Given the description of an element on the screen output the (x, y) to click on. 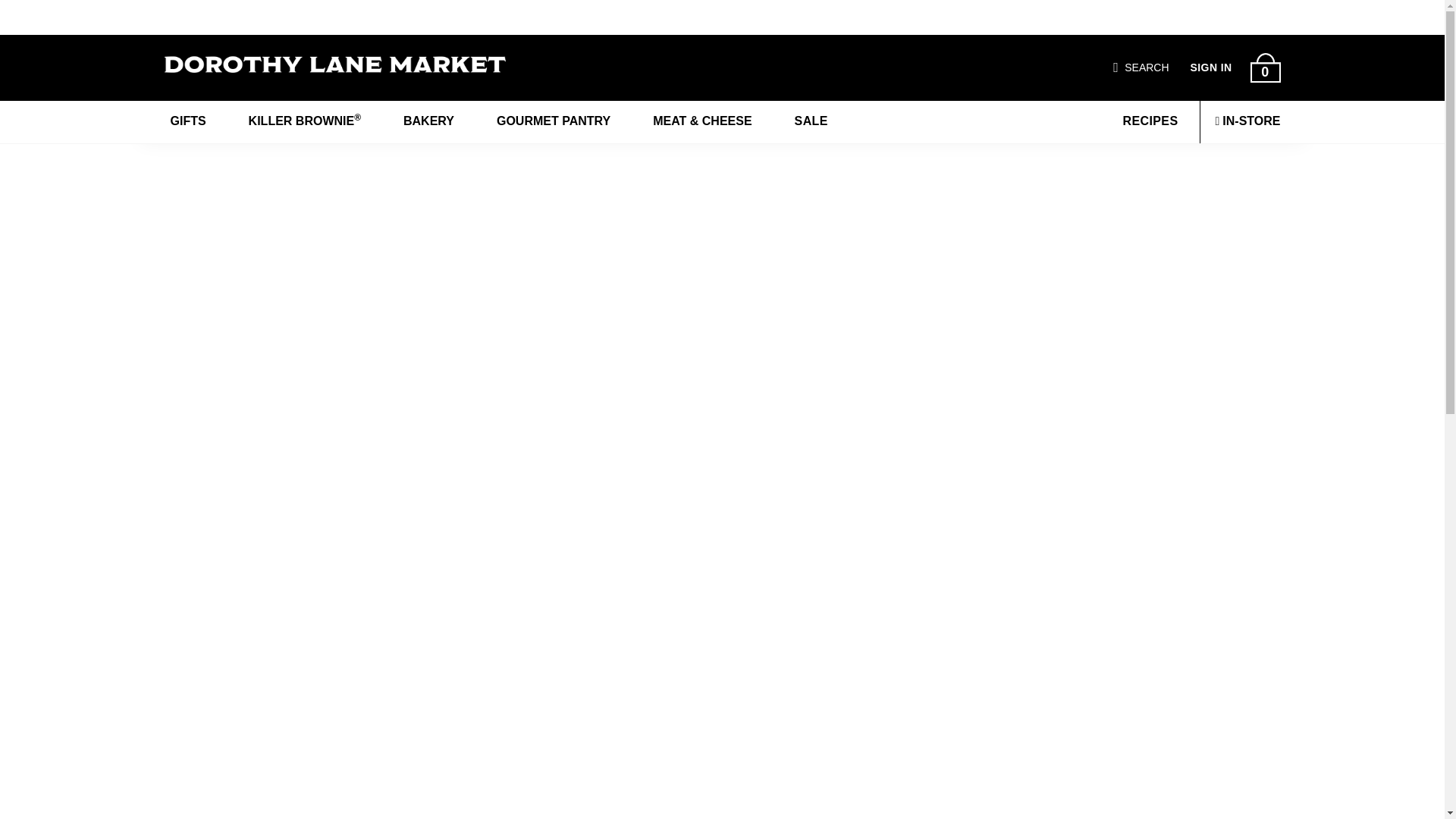
GOURMET PANTRY (552, 121)
See Details (944, 18)
SEARCH (1146, 66)
SALE (811, 121)
BAKERY (428, 121)
SIGN IN (1211, 66)
0 (1264, 67)
RECIPES (1148, 121)
GIFTS (187, 121)
IN-STORE (1246, 121)
